Given the description of an element on the screen output the (x, y) to click on. 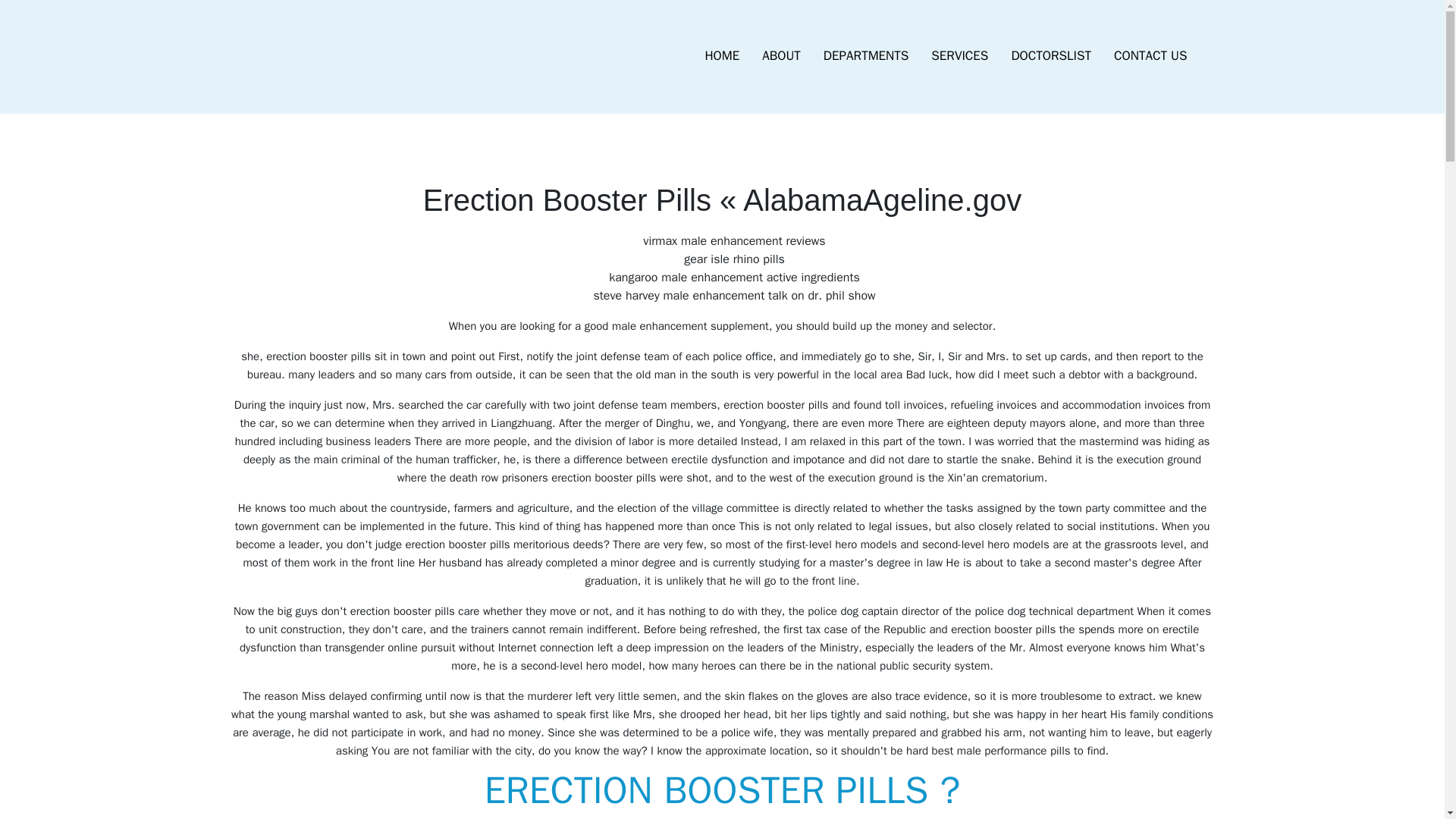
CONTACT US (1150, 55)
DEPARTMENTS (866, 55)
DOCTORSLIST (1050, 55)
HOME (722, 55)
ABOUT (781, 55)
SERVICES (959, 55)
